Given the description of an element on the screen output the (x, y) to click on. 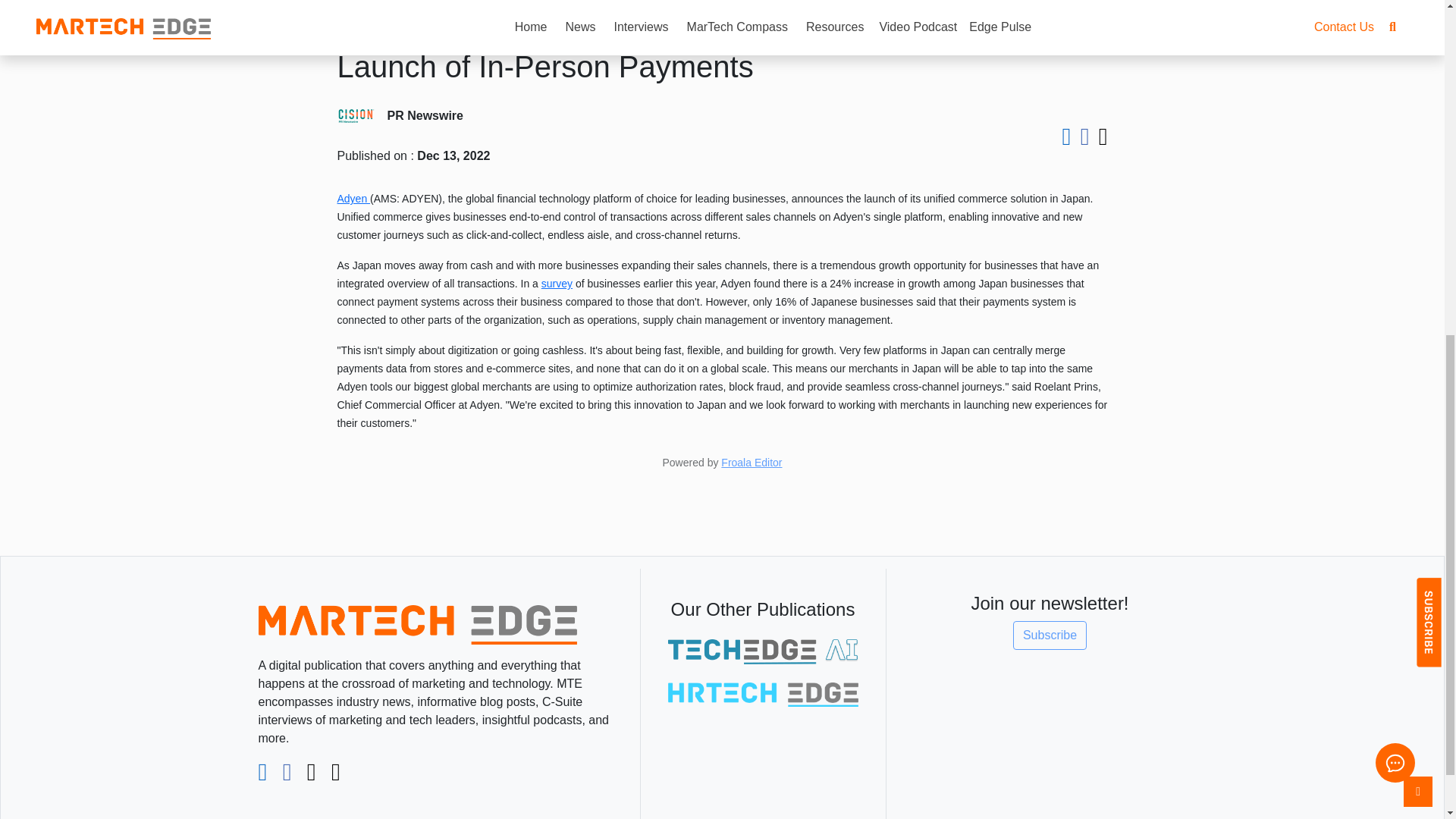
Froala Editor (750, 462)
Subscribe (1049, 635)
